Given the description of an element on the screen output the (x, y) to click on. 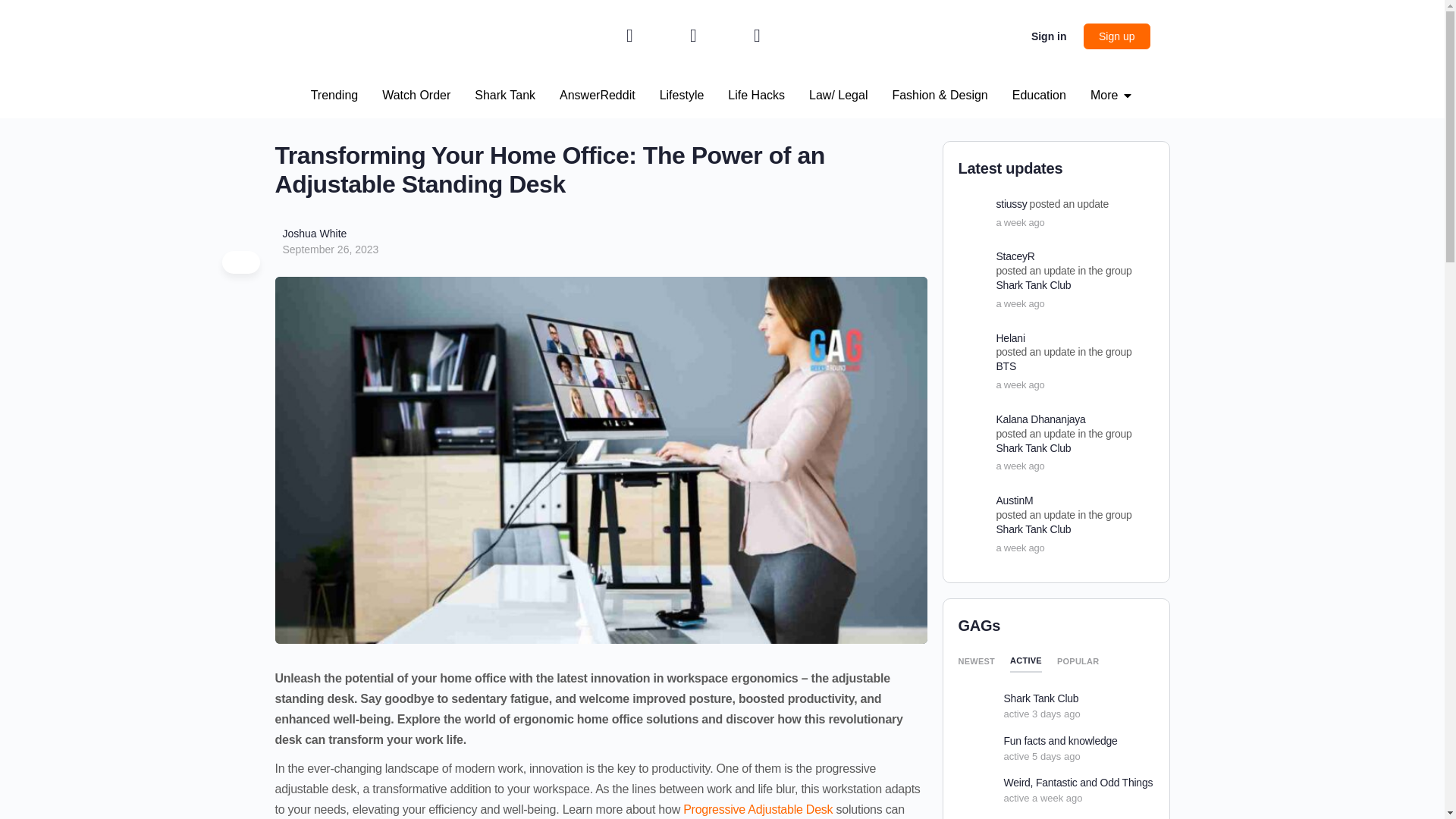
Lifestyle (681, 95)
AnswerReddit (596, 95)
Sign up (1116, 35)
Life Hacks (756, 95)
Shark Tank (504, 95)
Education (1038, 95)
Watch Order (415, 95)
Sign in (1048, 36)
Trending (334, 95)
